Given the description of an element on the screen output the (x, y) to click on. 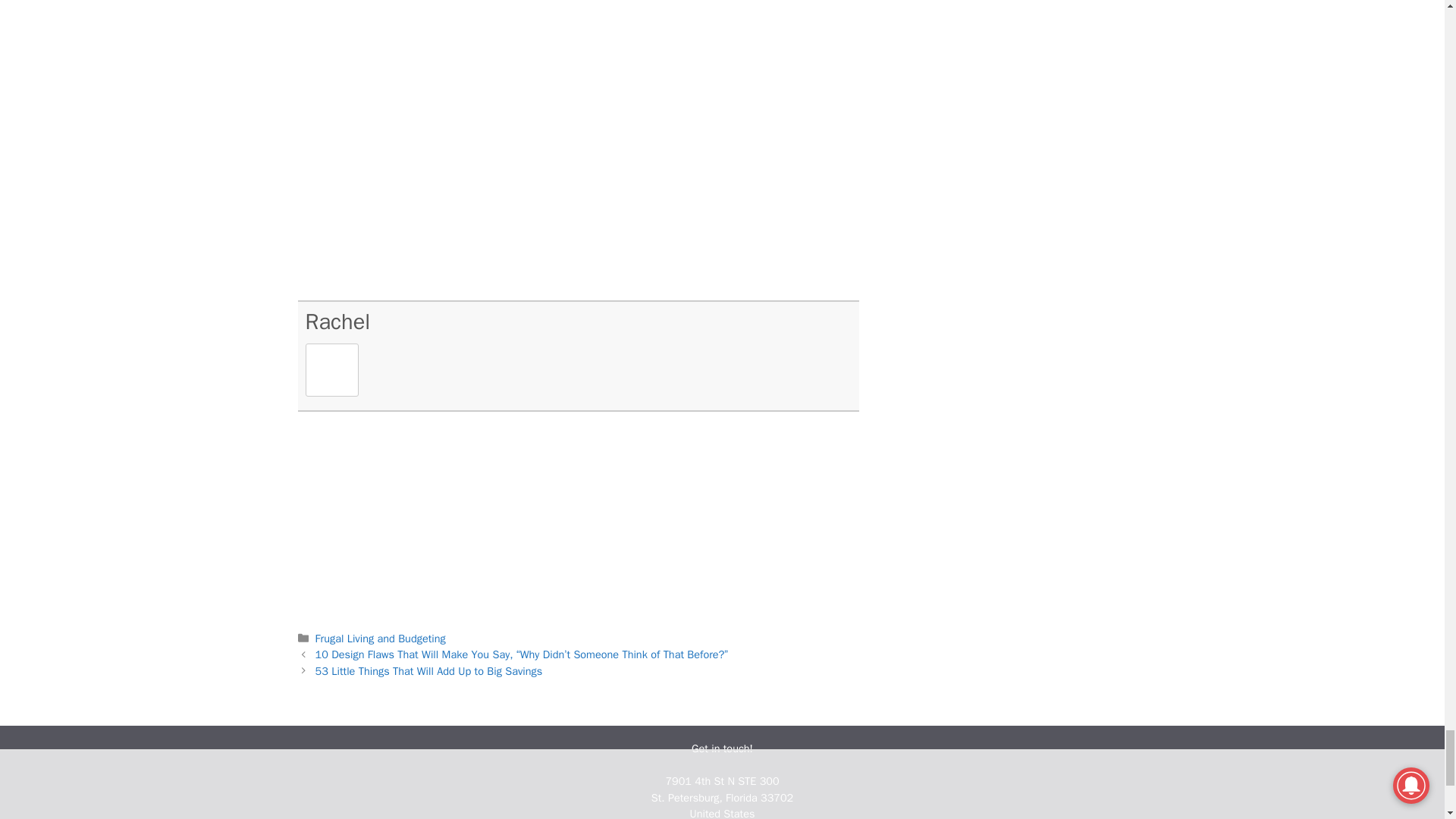
Frugal Living and Budgeting (380, 638)
Rachel (336, 321)
53 Little Things That Will Add Up to Big Savings (429, 671)
